Given the description of an element on the screen output the (x, y) to click on. 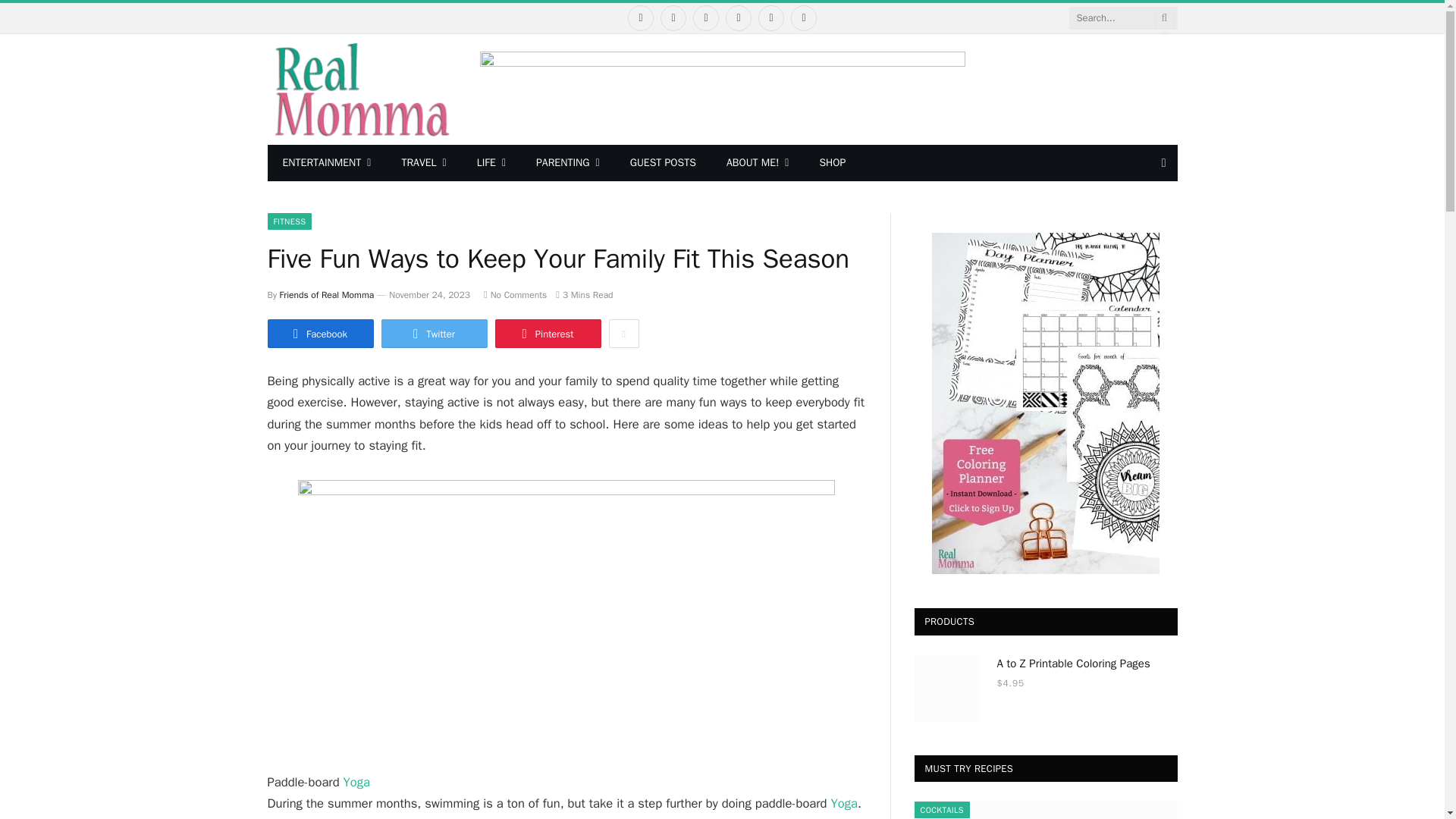
ENTERTAINMENT (325, 162)
Pinterest (738, 17)
Real Momma (358, 89)
YouTube (771, 17)
Facebook (640, 17)
RSS (803, 17)
Instagram (706, 17)
TRAVEL (423, 162)
